Given the description of an element on the screen output the (x, y) to click on. 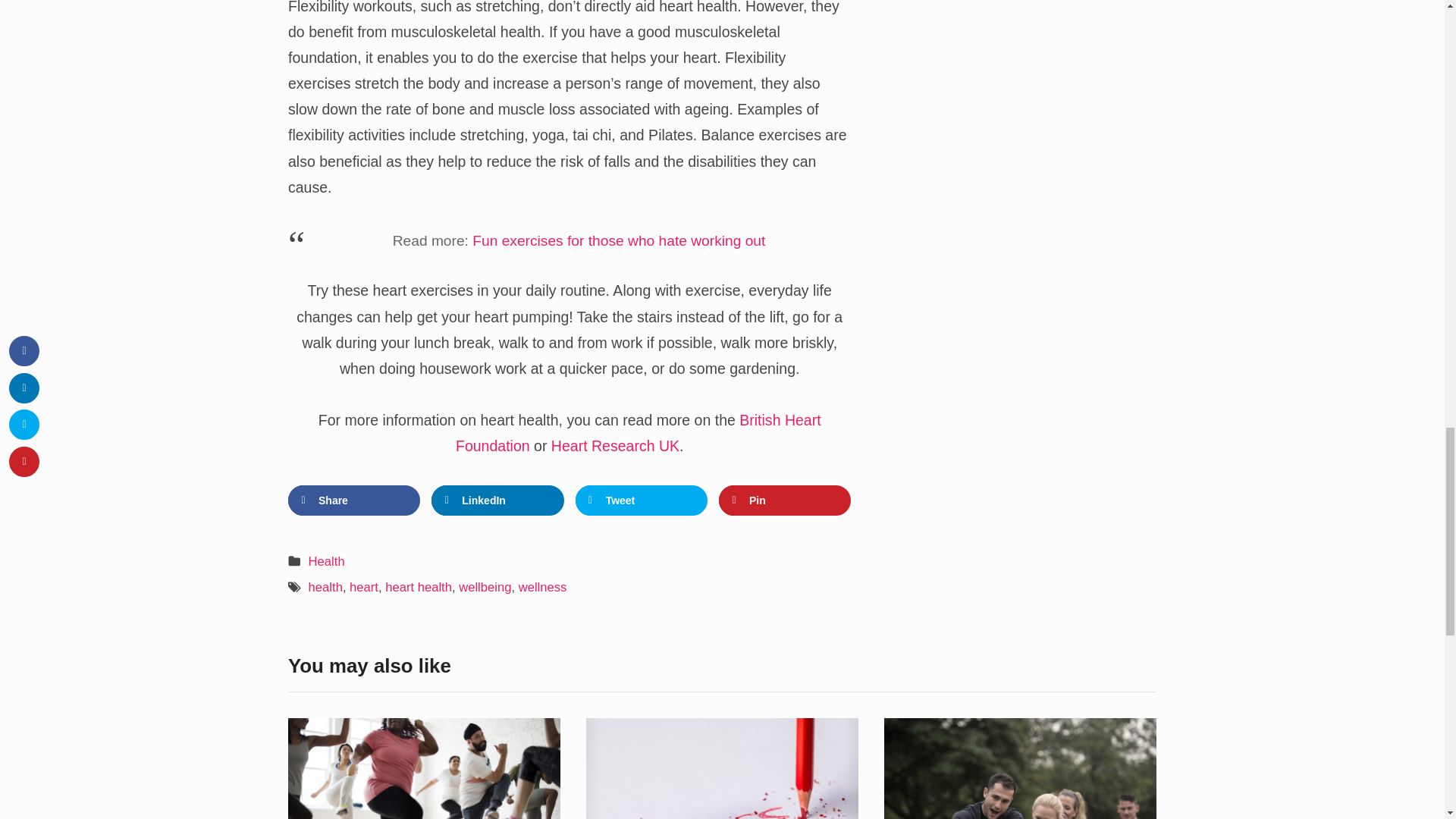
British Heart Foundation (638, 432)
Share (354, 500)
Health (326, 561)
Heart Research UK (615, 445)
Pin (784, 500)
health (325, 586)
wellness (542, 586)
heart health (418, 586)
LinkedIn (496, 500)
Fun exercises for those who hate working out (618, 240)
